Given the description of an element on the screen output the (x, y) to click on. 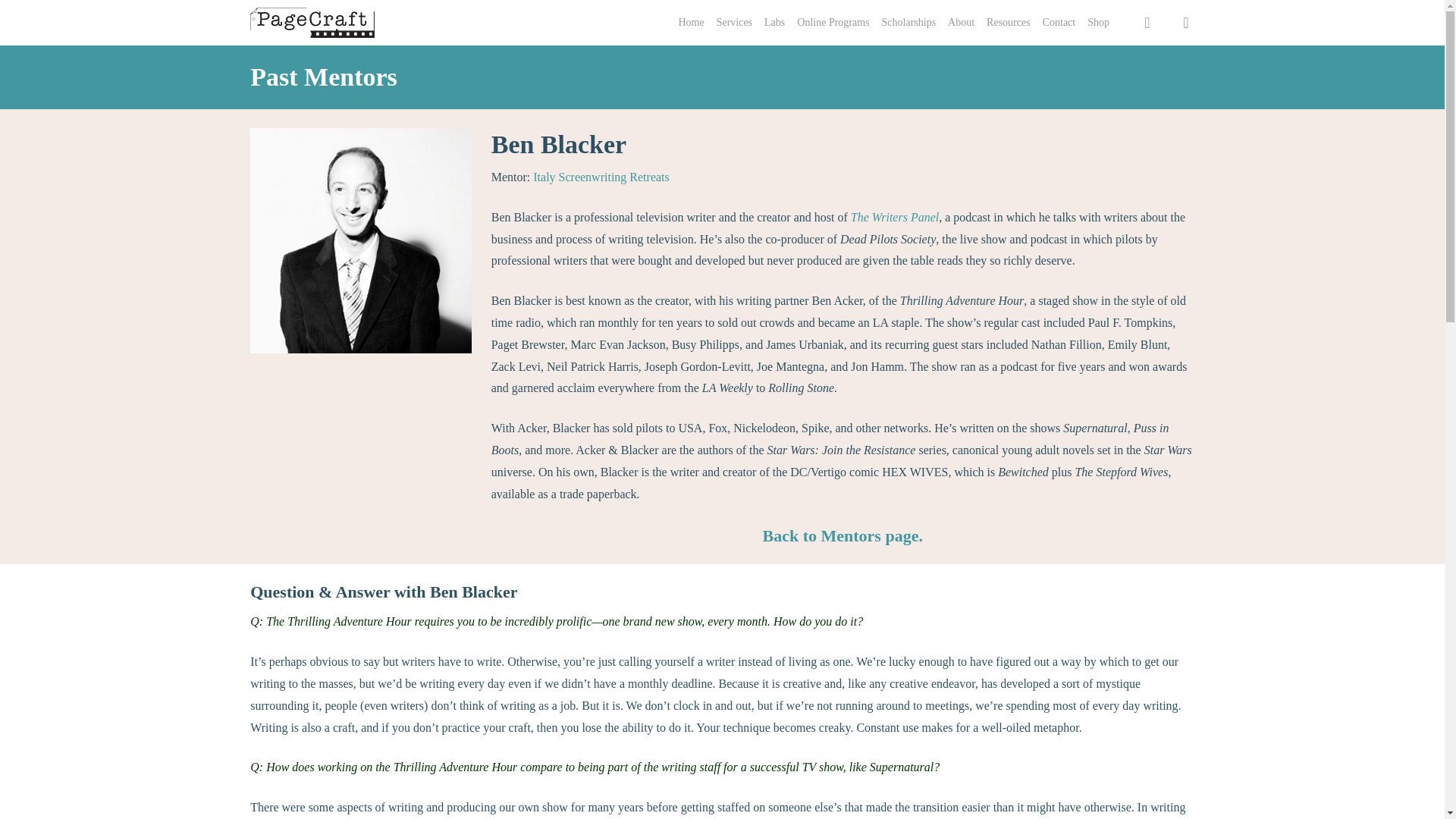
Instructors (842, 535)
About (960, 22)
Scholarships (909, 22)
Services (734, 22)
Labs (774, 22)
Online Programs (832, 22)
Home (690, 22)
